Given the description of an element on the screen output the (x, y) to click on. 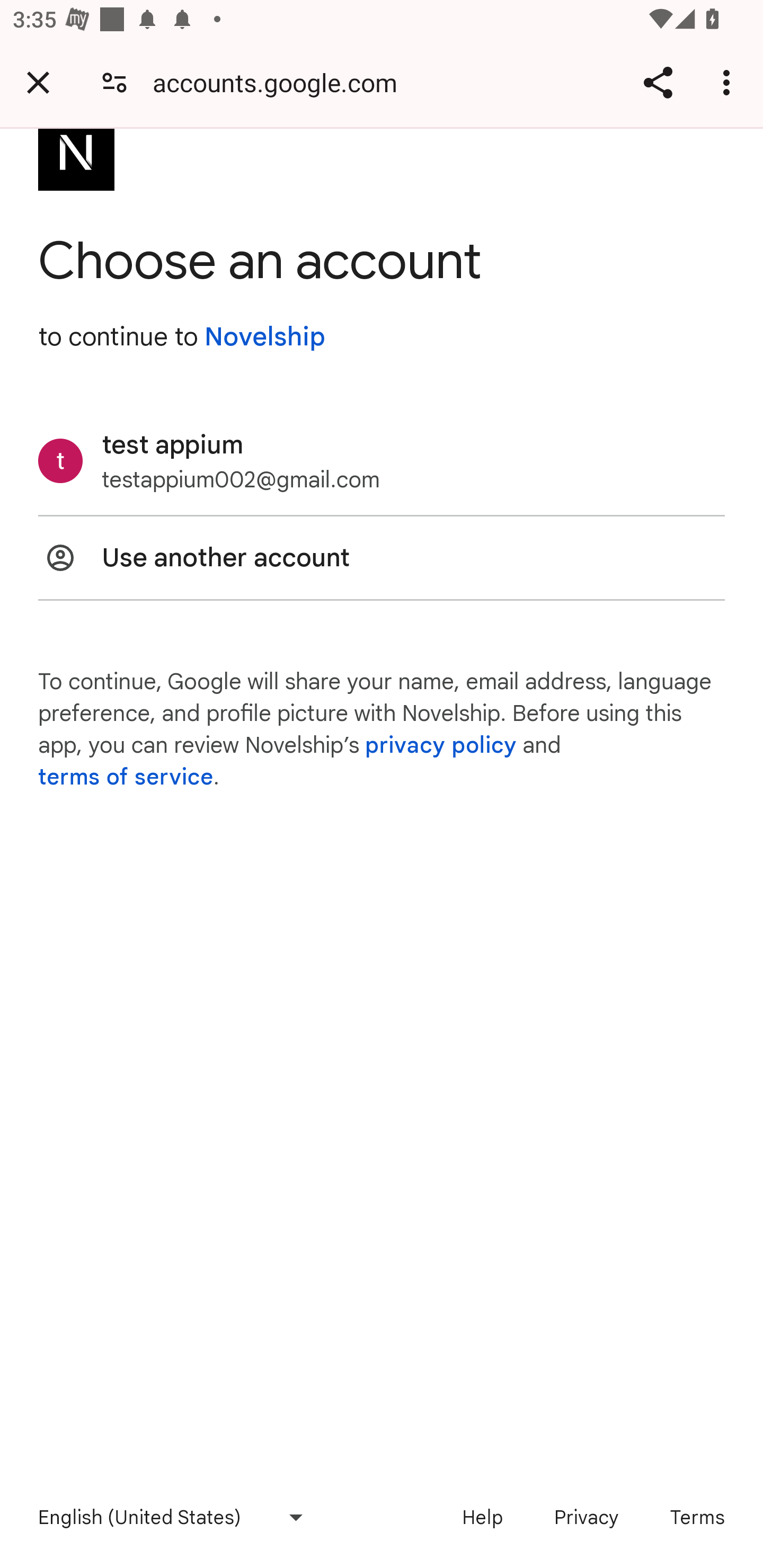
Close tab (38, 82)
Share (657, 82)
Customize and control Google Chrome (729, 82)
Connection is secure (114, 81)
accounts.google.com (281, 81)
Novelship (264, 336)
Use another account (381, 556)
privacy policy (440, 744)
terms of service (126, 776)
Help (481, 1517)
Privacy (586, 1517)
Terms (696, 1517)
